Given the description of an element on the screen output the (x, y) to click on. 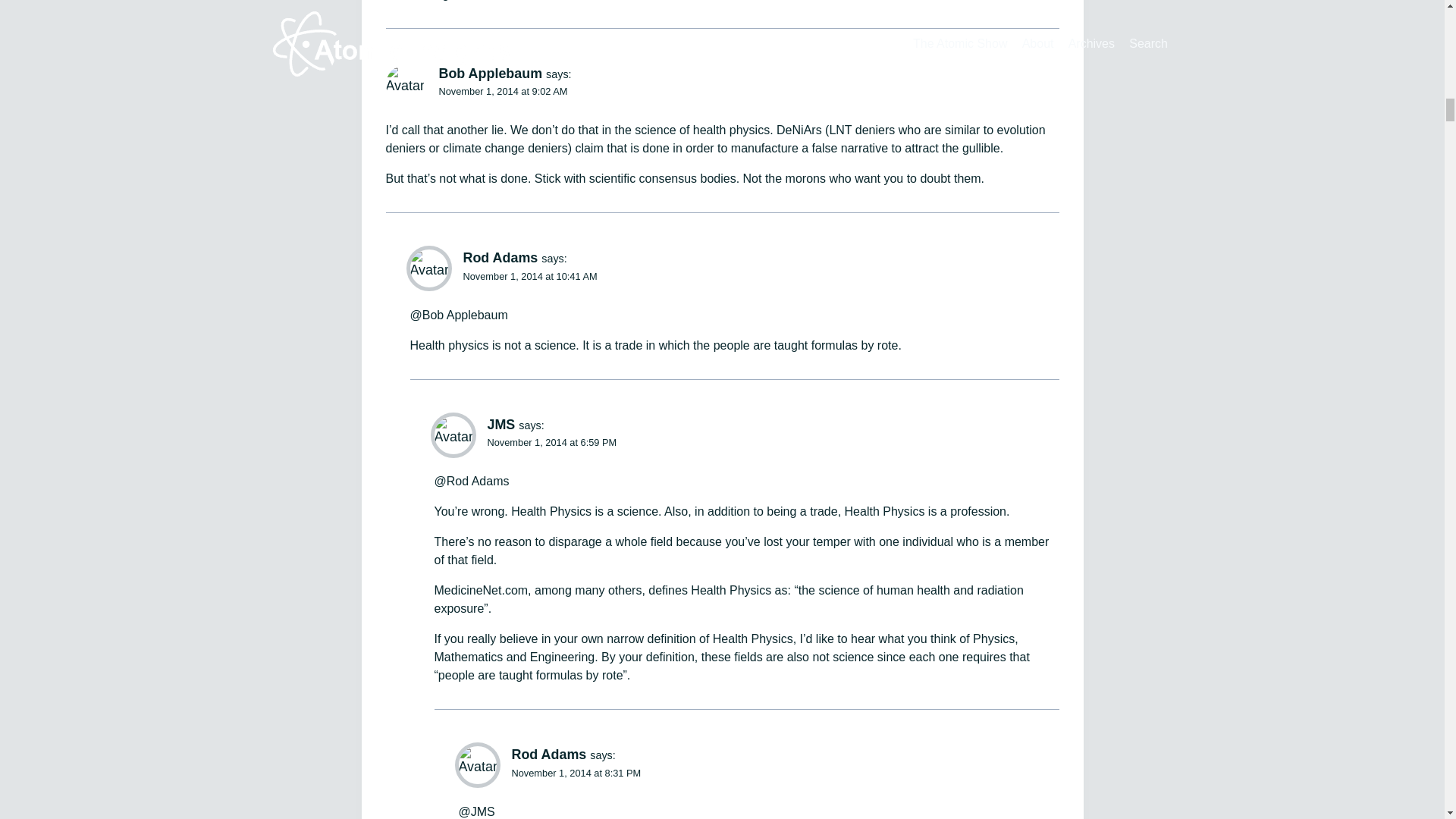
Rod Adams (548, 754)
Rod Adams (500, 257)
November 1, 2014 at 6:59 PM (550, 441)
November 1, 2014 at 10:41 AM (529, 276)
November 1, 2014 at 8:31 PM (575, 772)
November 1, 2014 at 9:02 AM (502, 91)
